Given the description of an element on the screen output the (x, y) to click on. 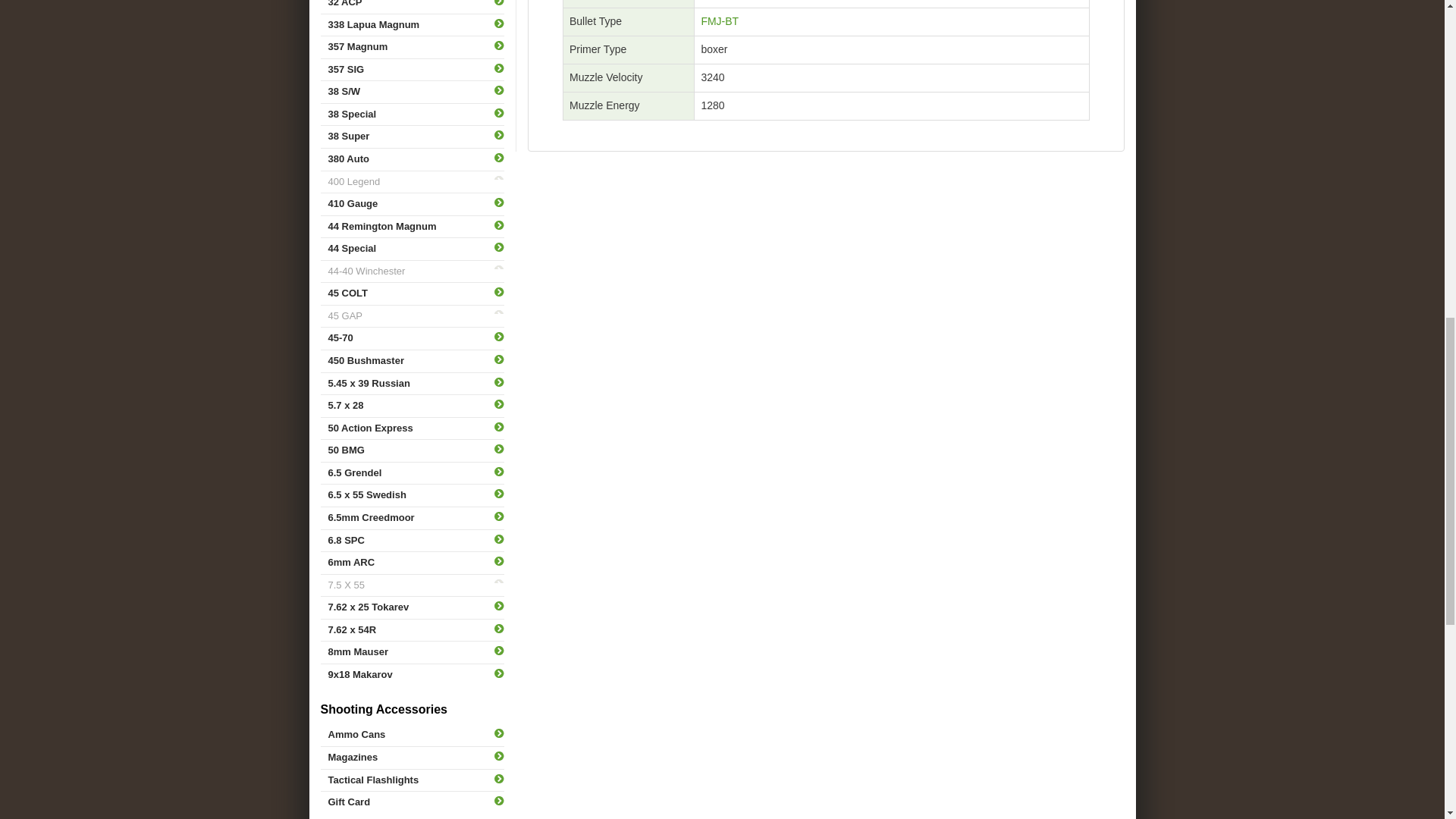
what is fmj? (719, 21)
FMJ-BT (719, 21)
